Given the description of an element on the screen output the (x, y) to click on. 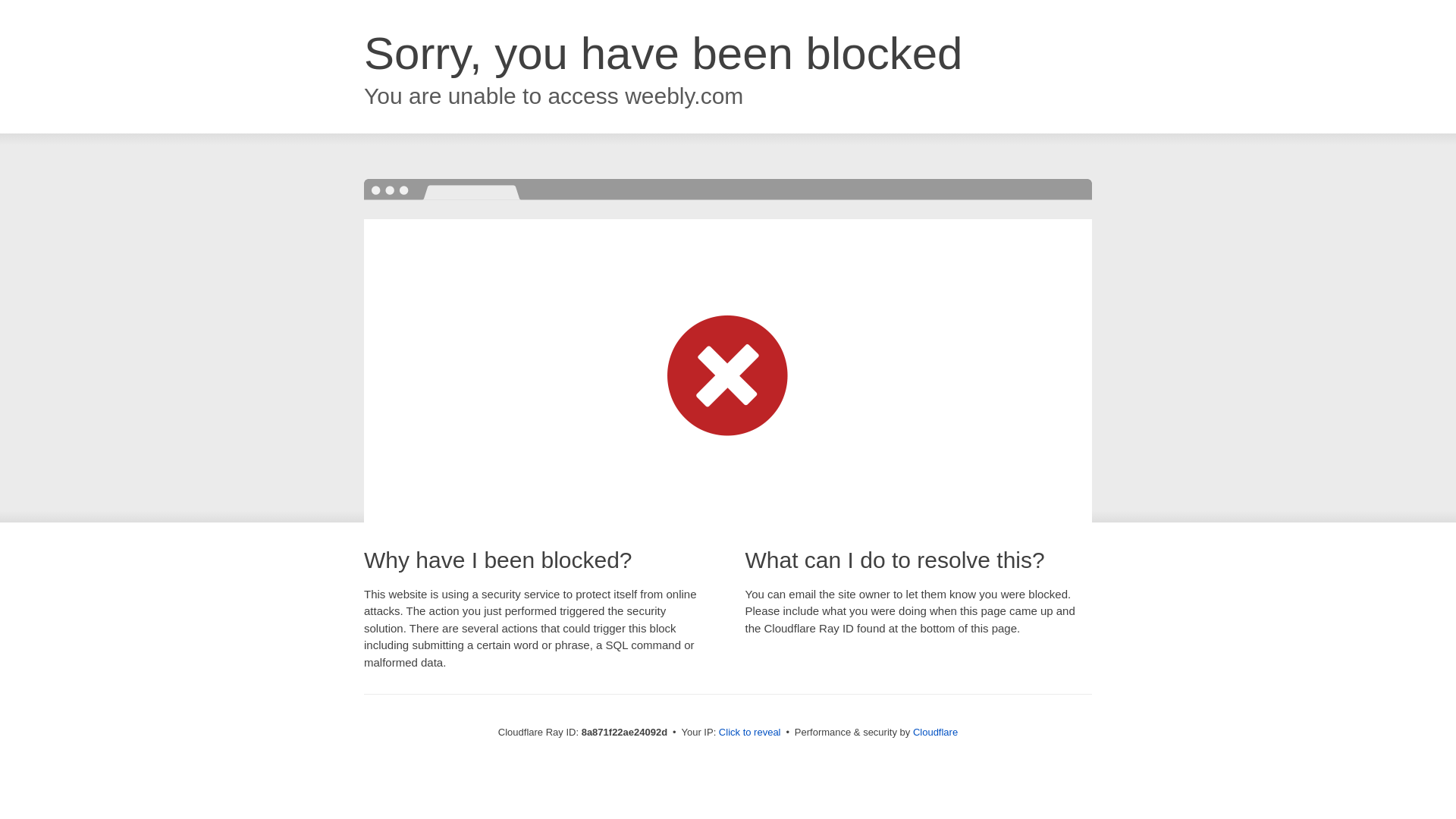
Cloudflare (935, 731)
Click to reveal (749, 732)
